Given the description of an element on the screen output the (x, y) to click on. 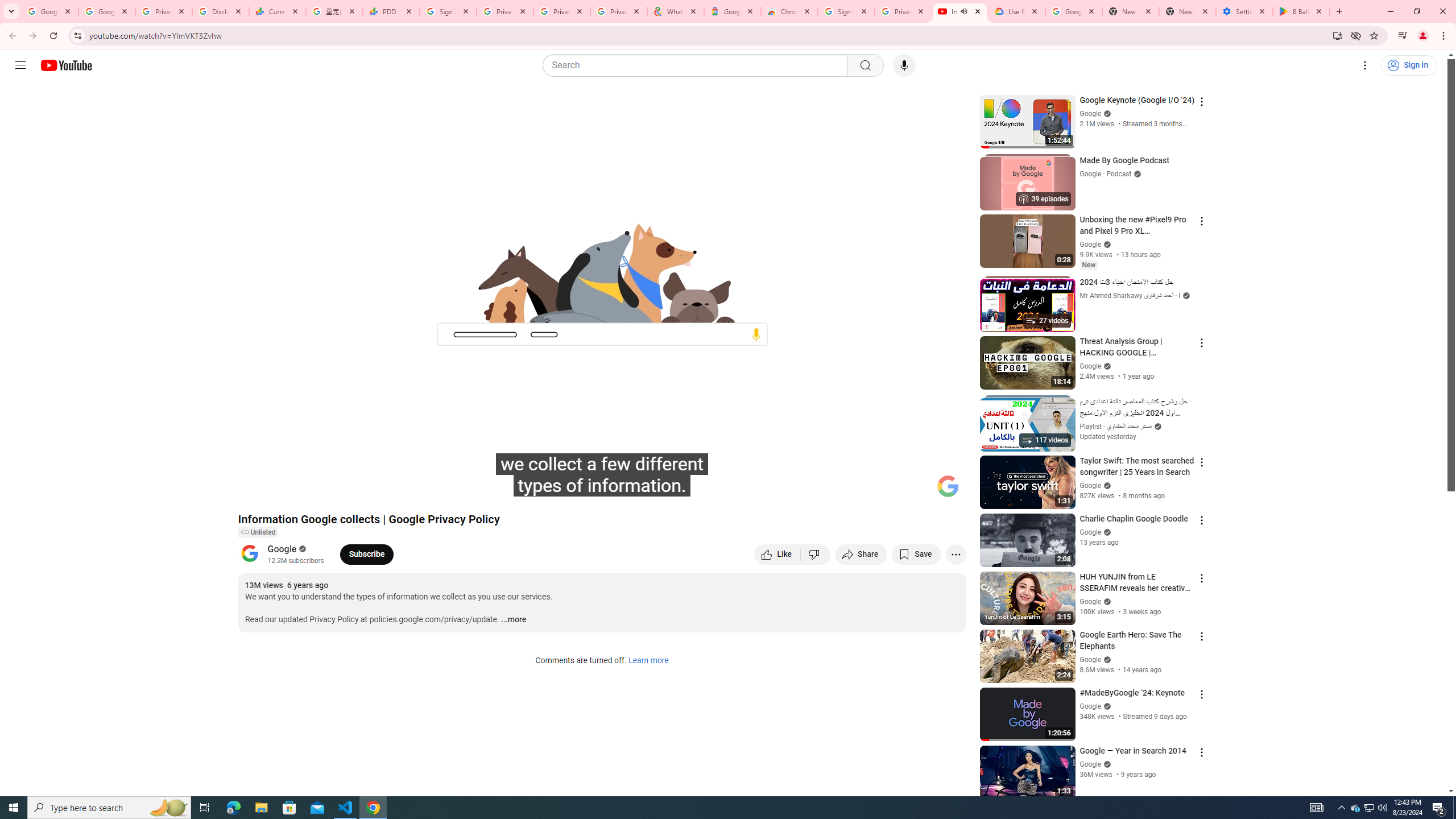
Like (777, 554)
Currencies - Google Finance (277, 11)
Sign in - Google Accounts (447, 11)
Channel watermark (947, 486)
Subscribe to Google. (366, 554)
Theater mode (t) (917, 490)
Privacy Checkup (561, 11)
New Tab (1187, 11)
Install YouTube (1336, 35)
